Given the description of an element on the screen output the (x, y) to click on. 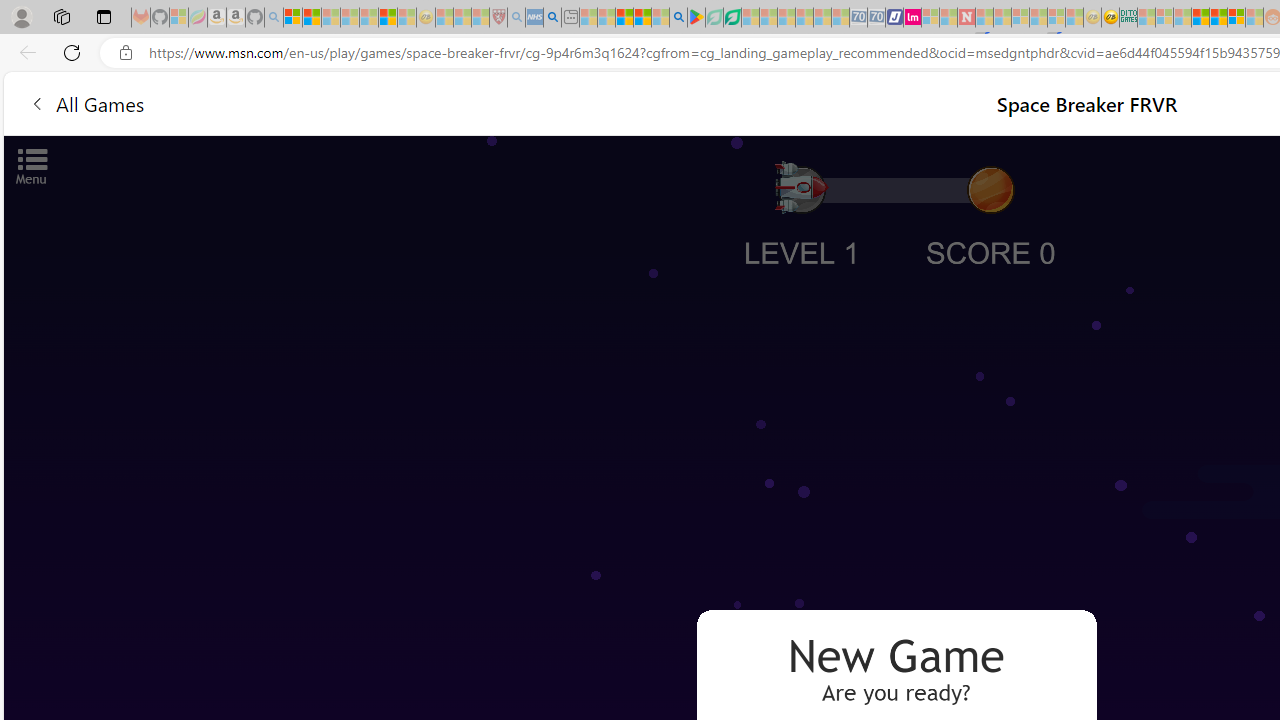
Microsoft Word - consumer-privacy address update 2.2021 (732, 17)
DITOGAMES AG Imprint (1128, 17)
Recipes - MSN - Sleeping (444, 17)
Terms of Use Agreement - Sleeping (714, 17)
Cheap Hotels - Save70.com - Sleeping (875, 17)
Latest Politics News & Archive | Newsweek.com - Sleeping (966, 17)
All Games (86, 102)
